Given the description of an element on the screen output the (x, y) to click on. 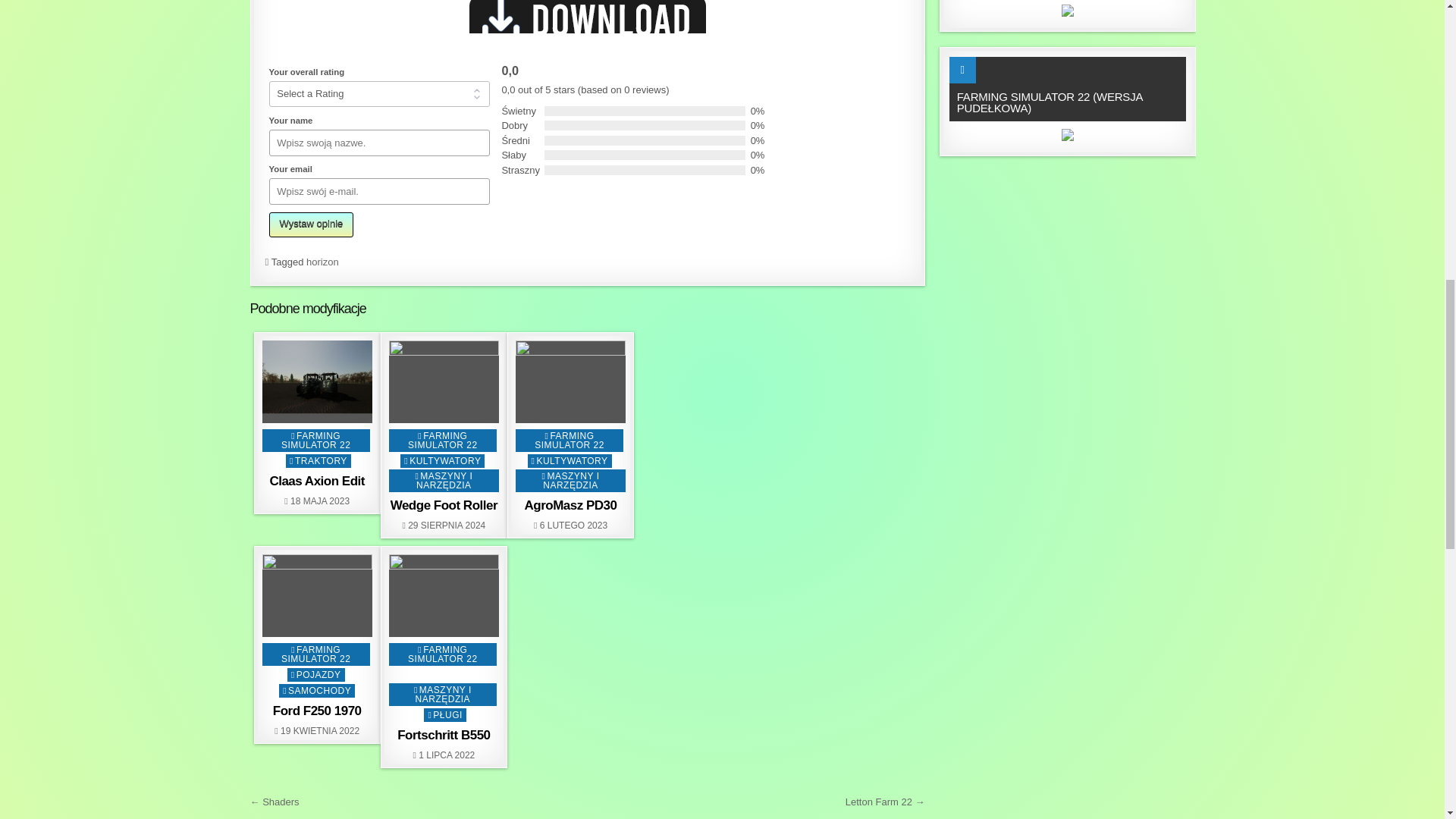
Permanent Link to Wedge Foot Roller (443, 381)
Permanent Link to AgroMasz PD30 (570, 381)
Permanent Link to Fortschritt B550 (443, 595)
Permanent Link to Claas Axion Edit (317, 381)
Permanent Link to Ford F250 1970 (317, 595)
Kup Farming Simulator 22 (1067, 137)
Kup Farming Simulator 22 (1067, 12)
